Given the description of an element on the screen output the (x, y) to click on. 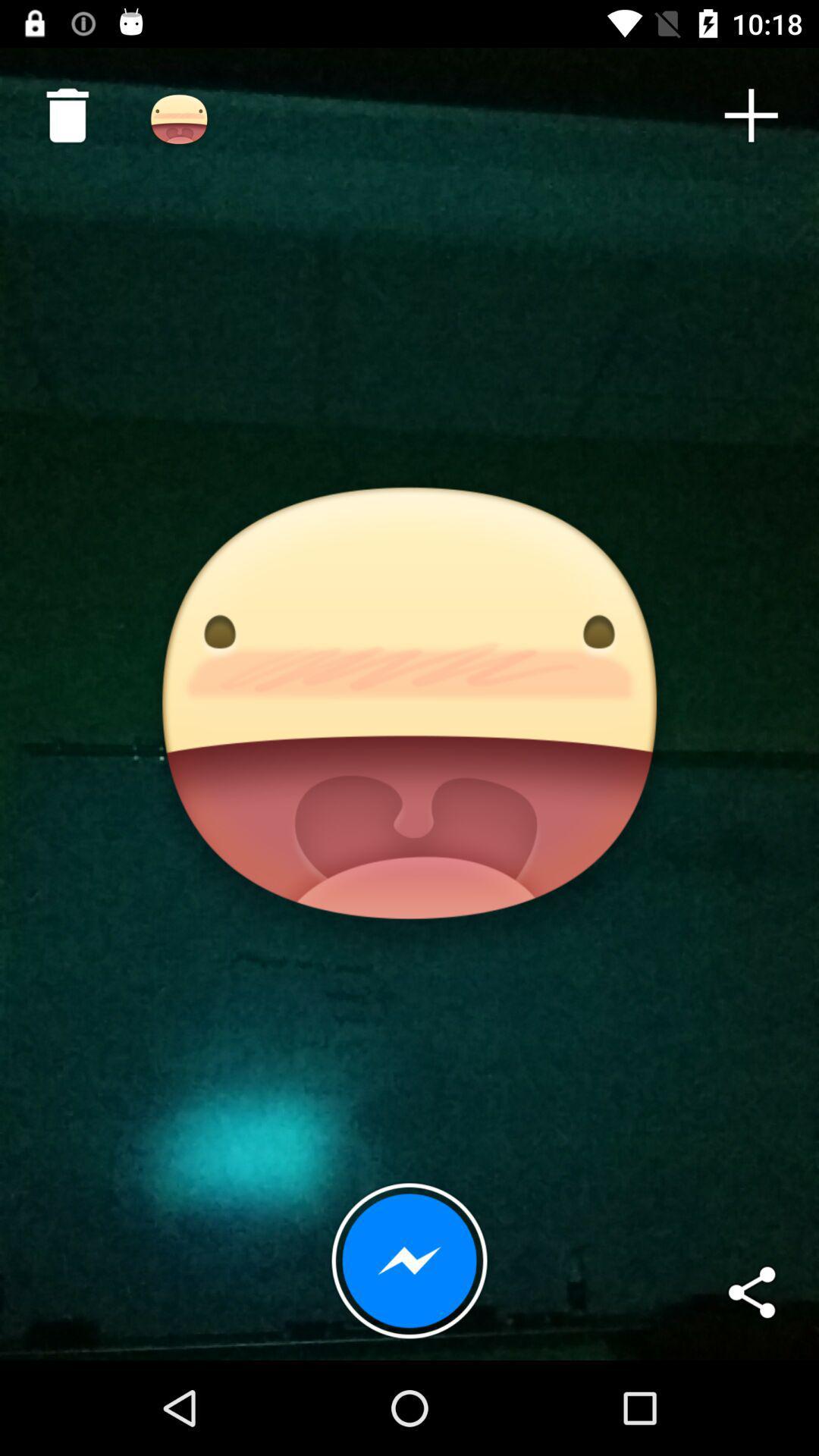
launch the item at the bottom right corner (751, 1292)
